Given the description of an element on the screen output the (x, y) to click on. 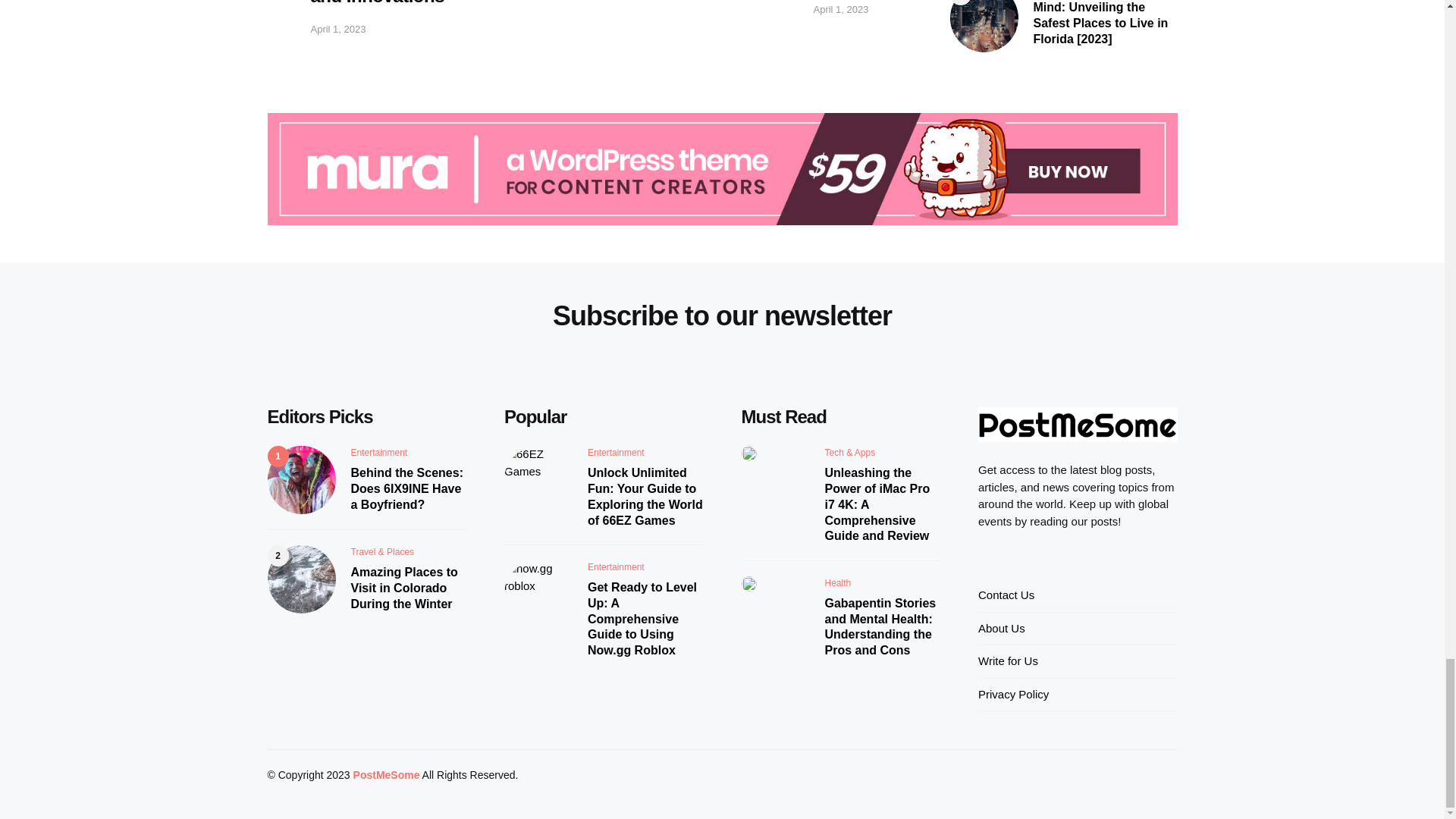
Entertainment (378, 452)
Behind the Scenes: Does 6IX9INE Have a Boyfriend? (407, 489)
